Given the description of an element on the screen output the (x, y) to click on. 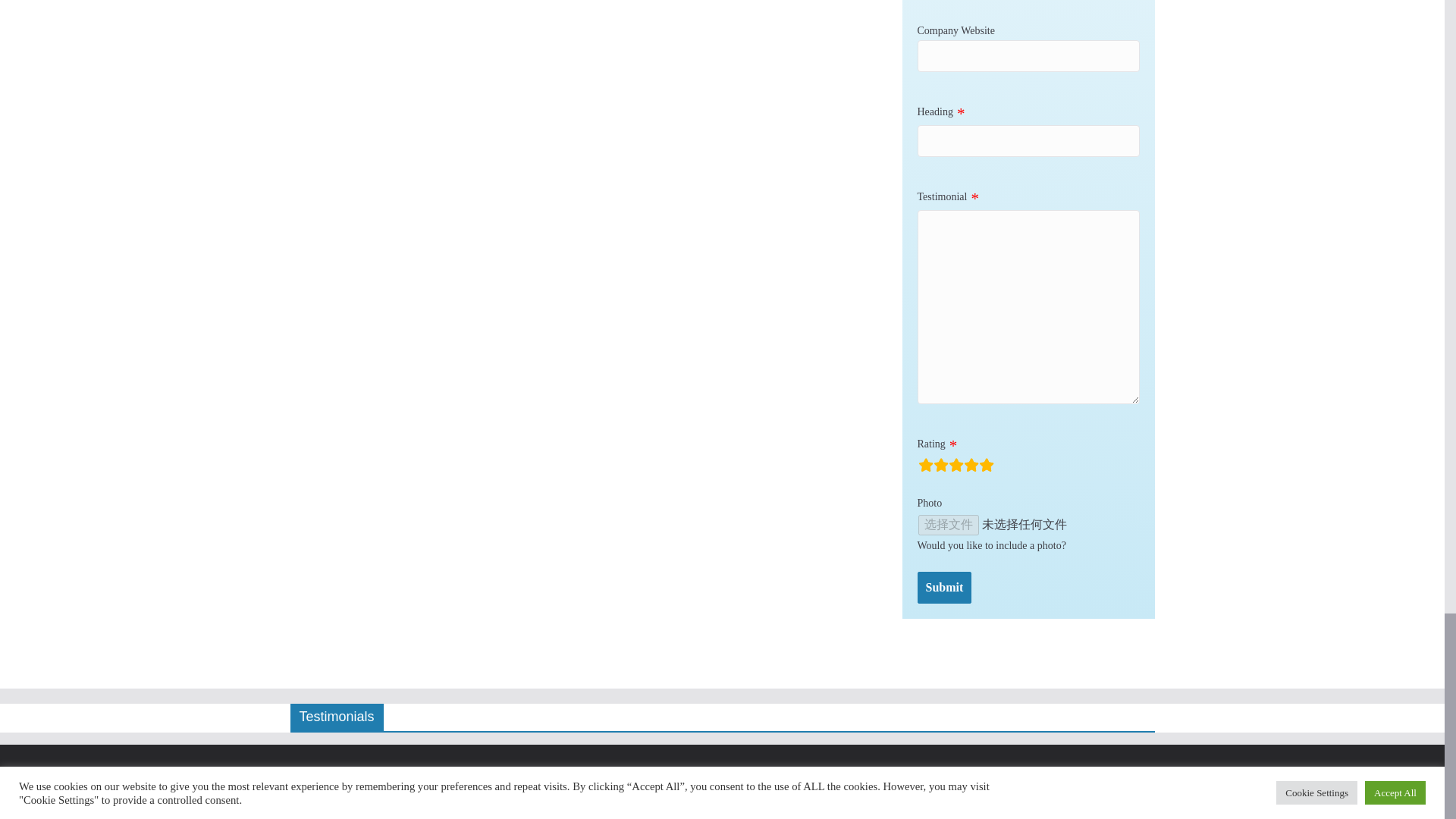
ColorMag (346, 790)
Submit (944, 587)
Submit (944, 587)
TECHIES WORLD (411, 772)
WordPress (514, 790)
